Given the description of an element on the screen output the (x, y) to click on. 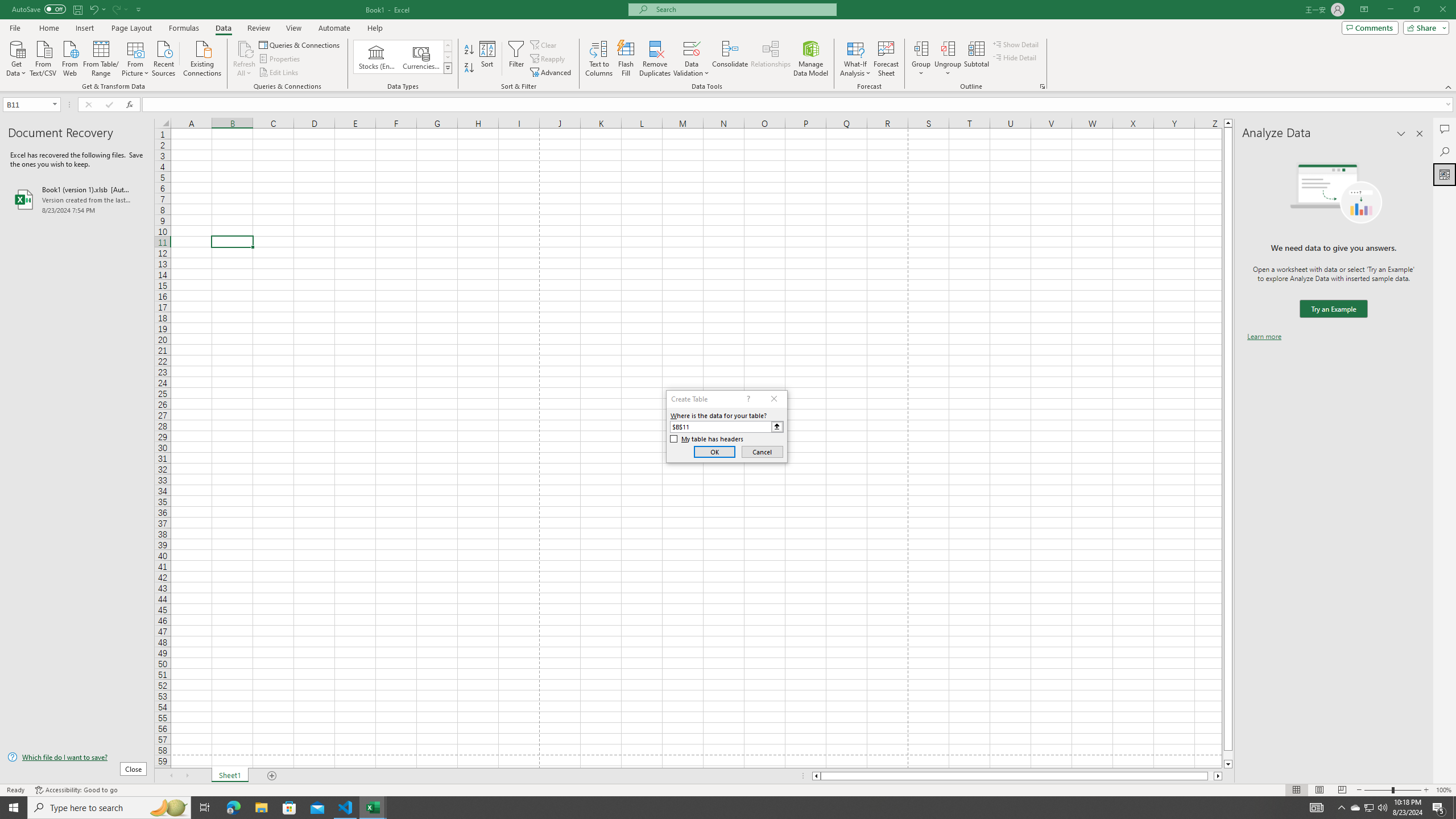
Group... (921, 48)
Ungroup... (947, 48)
From Web (69, 57)
Forecast Sheet (885, 58)
We need data to give you answers. Try an Example (1333, 308)
Collapse the Ribbon (1448, 86)
Help (374, 28)
Relationships (770, 58)
Refresh All (244, 48)
Data Validation... (691, 48)
Ungroup... (947, 58)
